Given the description of an element on the screen output the (x, y) to click on. 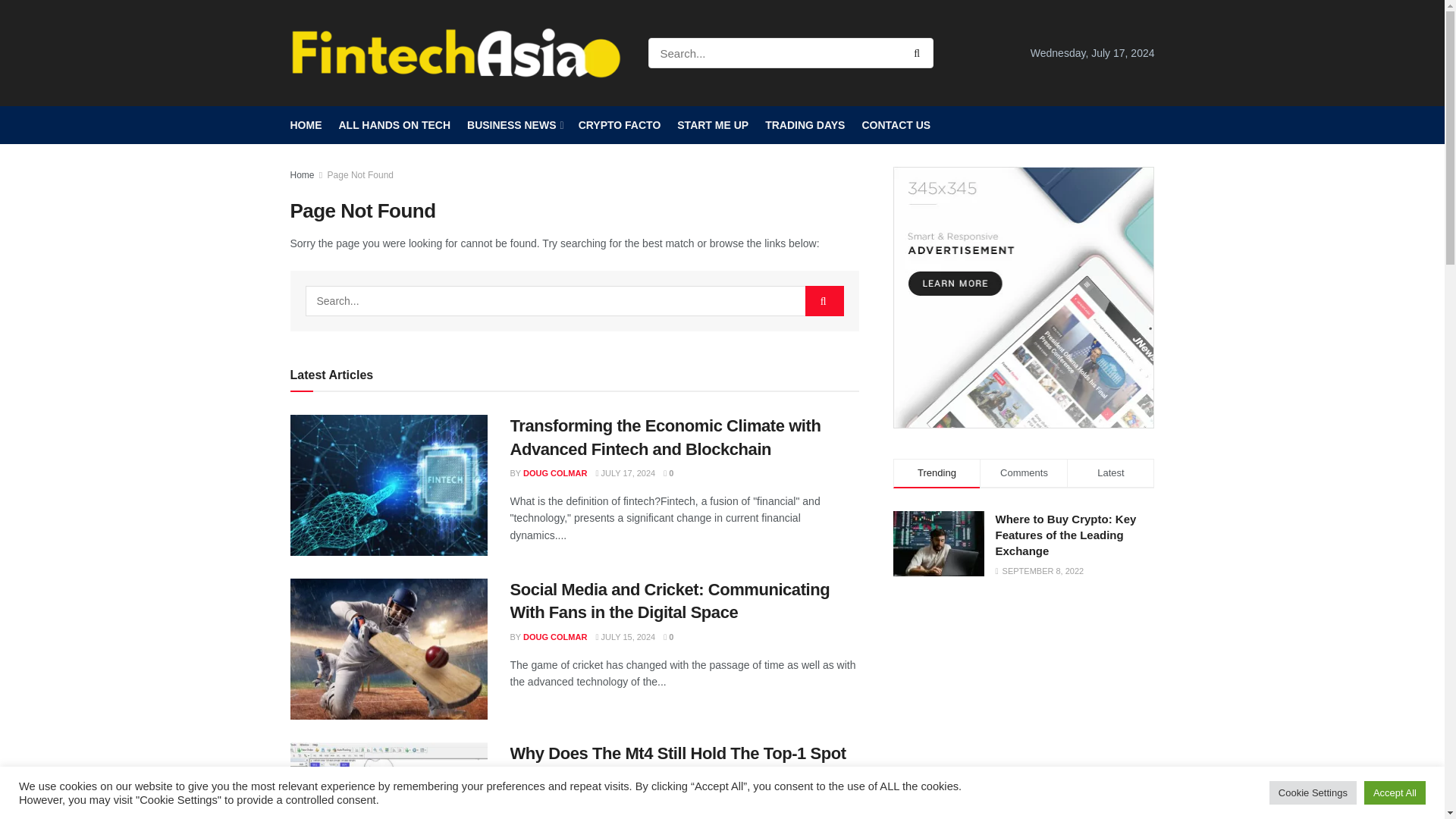
CRYPTO FACTO (619, 125)
DOUG COLMAR (554, 636)
JULY 17, 2024 (625, 472)
START ME UP (712, 125)
TRADING DAYS (804, 125)
Home (301, 174)
CONTACT US (895, 125)
Page Not Found (360, 174)
BUSINESS NEWS (514, 125)
JULY 15, 2024 (625, 636)
ALL HANDS ON TECH (393, 125)
0 (667, 472)
DOUG COLMAR (554, 472)
